Given the description of an element on the screen output the (x, y) to click on. 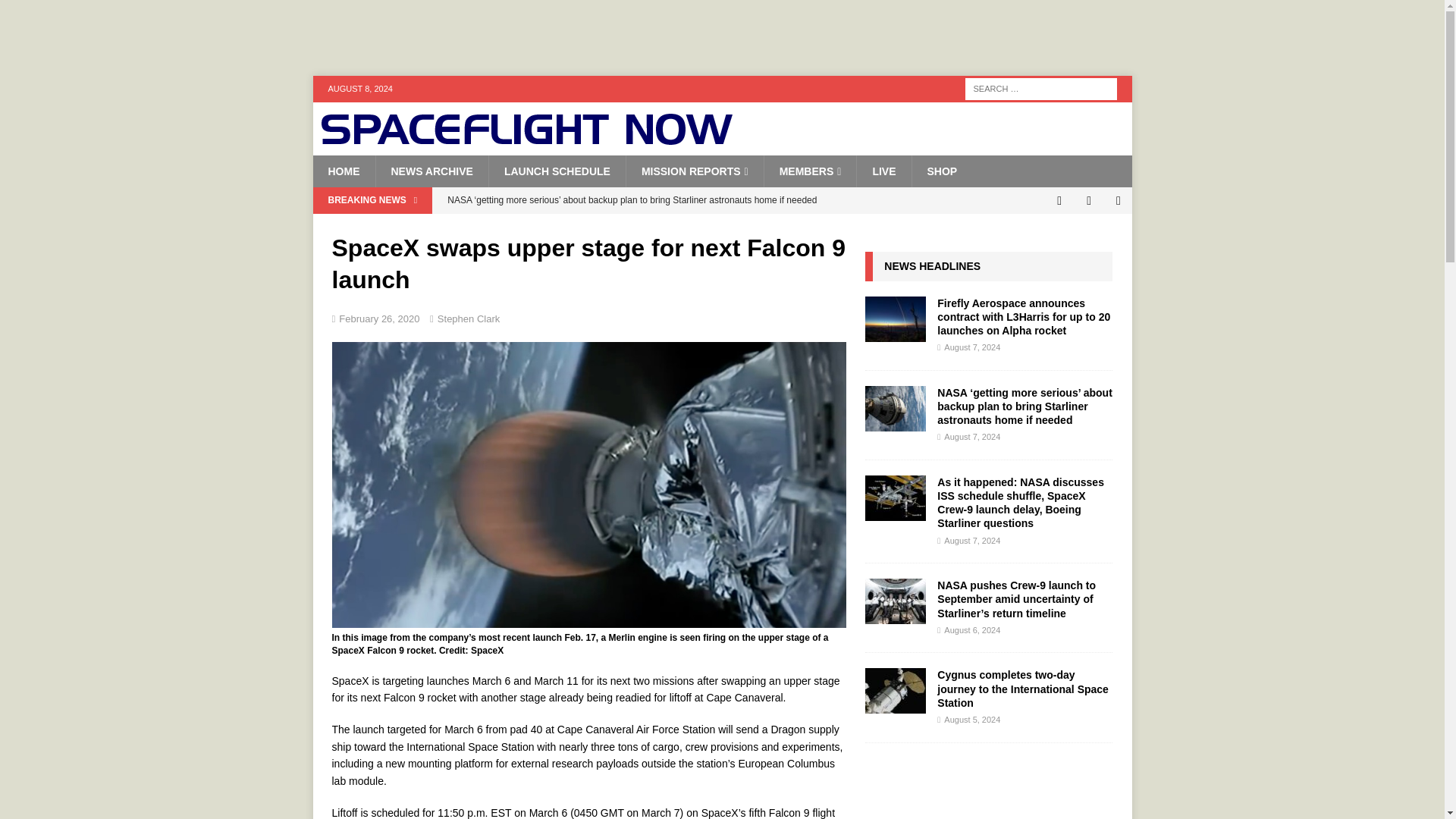
LAUNCH SCHEDULE (556, 171)
Spaceflight Now (526, 139)
Search (56, 11)
NEWS ARCHIVE (430, 171)
HOME (343, 171)
MEMBERS (809, 171)
MISSION REPORTS (694, 171)
